Given the description of an element on the screen output the (x, y) to click on. 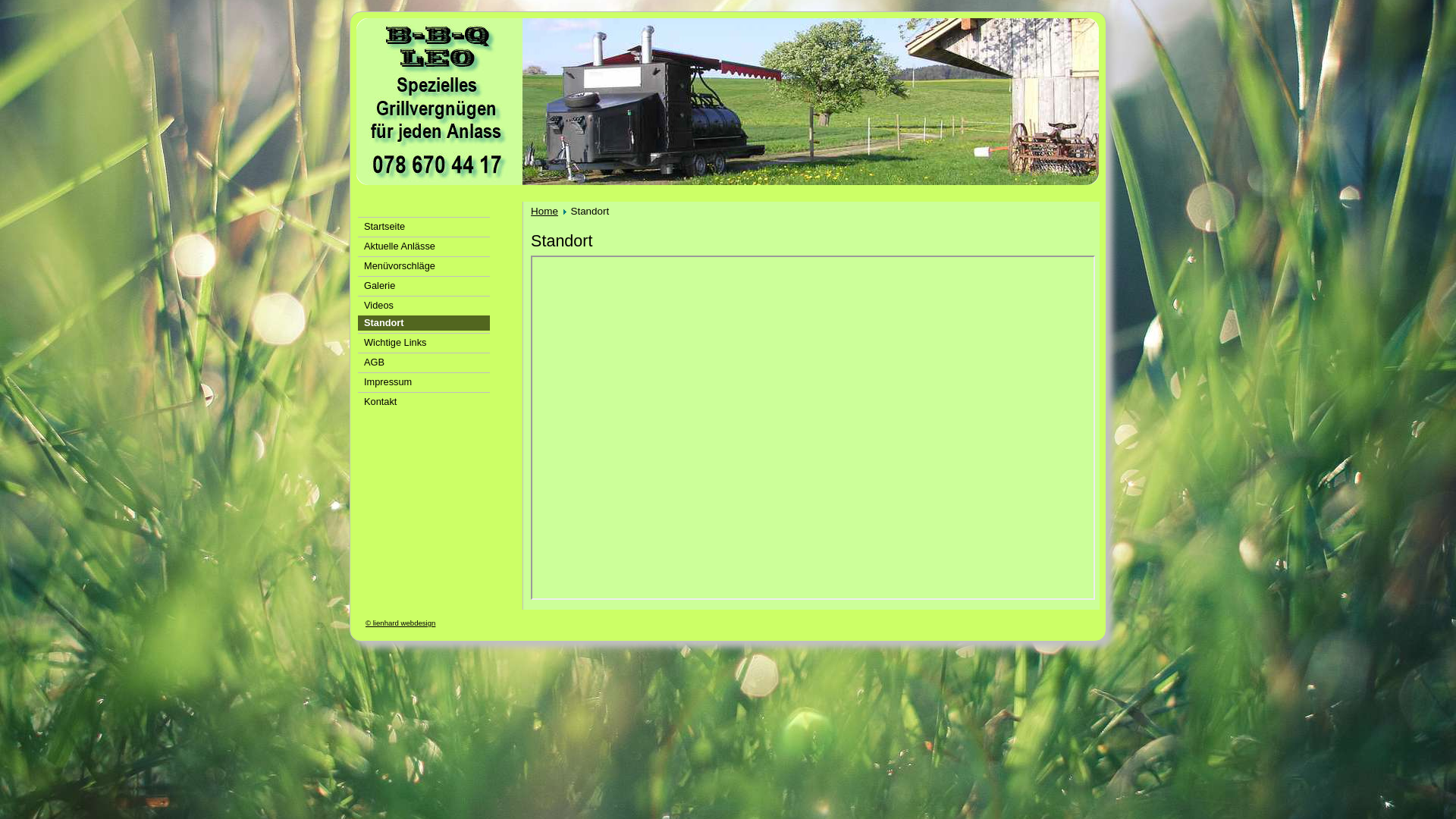
AGB Element type: text (423, 361)
bbqleo Element type: hover (727, 101)
Galerie Element type: text (423, 284)
Videos Element type: text (423, 304)
Kontakt Element type: text (423, 400)
Home Element type: text (544, 210)
Startseite Element type: text (423, 225)
Impressum Element type: text (423, 380)
Wichtige Links Element type: text (423, 341)
